Given the description of an element on the screen output the (x, y) to click on. 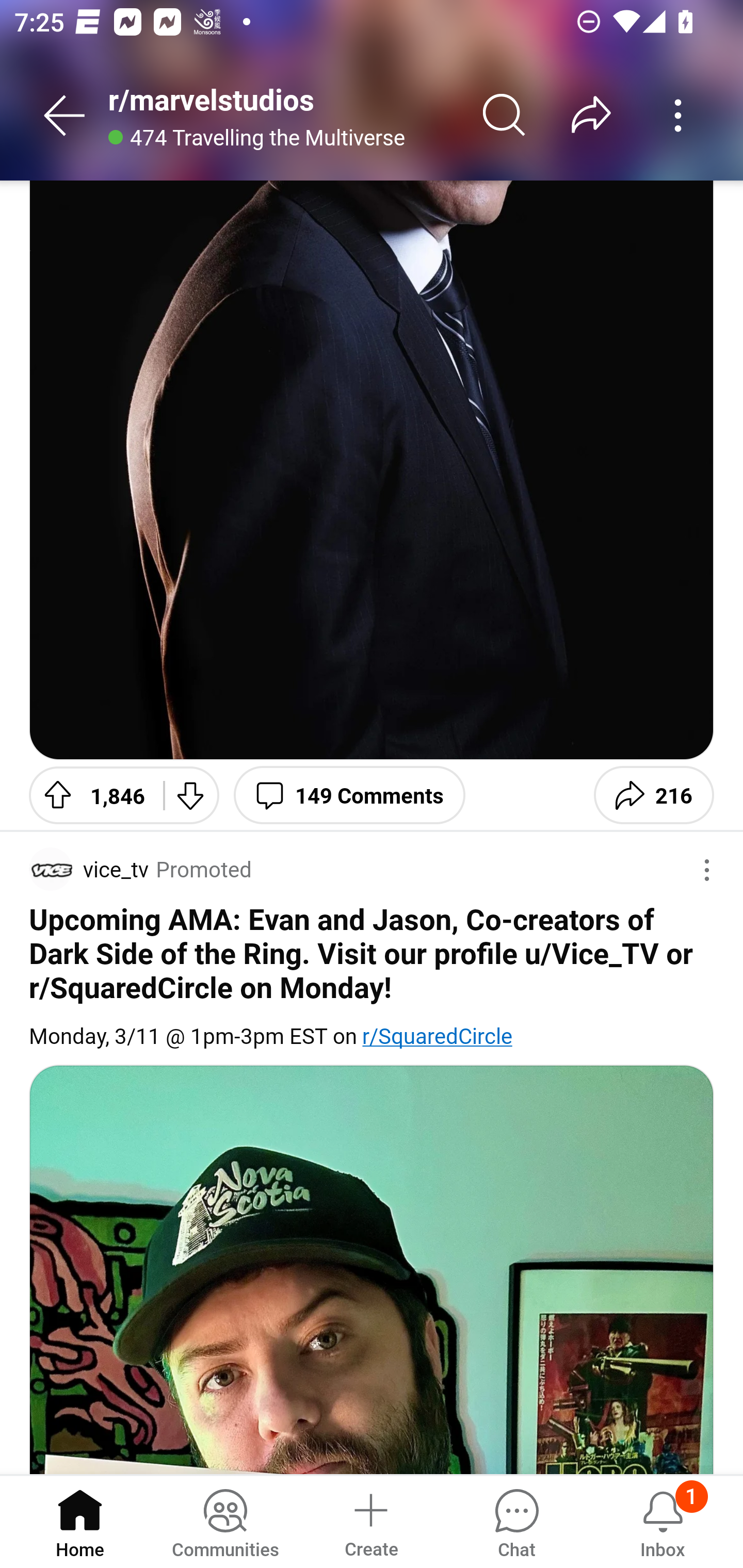
Back (64, 115)
Search r/﻿marvelstudios (504, 115)
Share r/﻿marvelstudios (591, 115)
More community actions (677, 115)
Image (371, 470)
Upvote 1,846 (88, 794)
Downvote (191, 794)
149 Comments (349, 794)
Share 216 (653, 794)
Author vice_tv (88, 869)
Image (371, 1268)
Home (80, 1520)
Communities (225, 1520)
Create a post Create (370, 1520)
Chat (516, 1520)
Inbox, has 1 notification 1 Inbox (662, 1520)
